Given the description of an element on the screen output the (x, y) to click on. 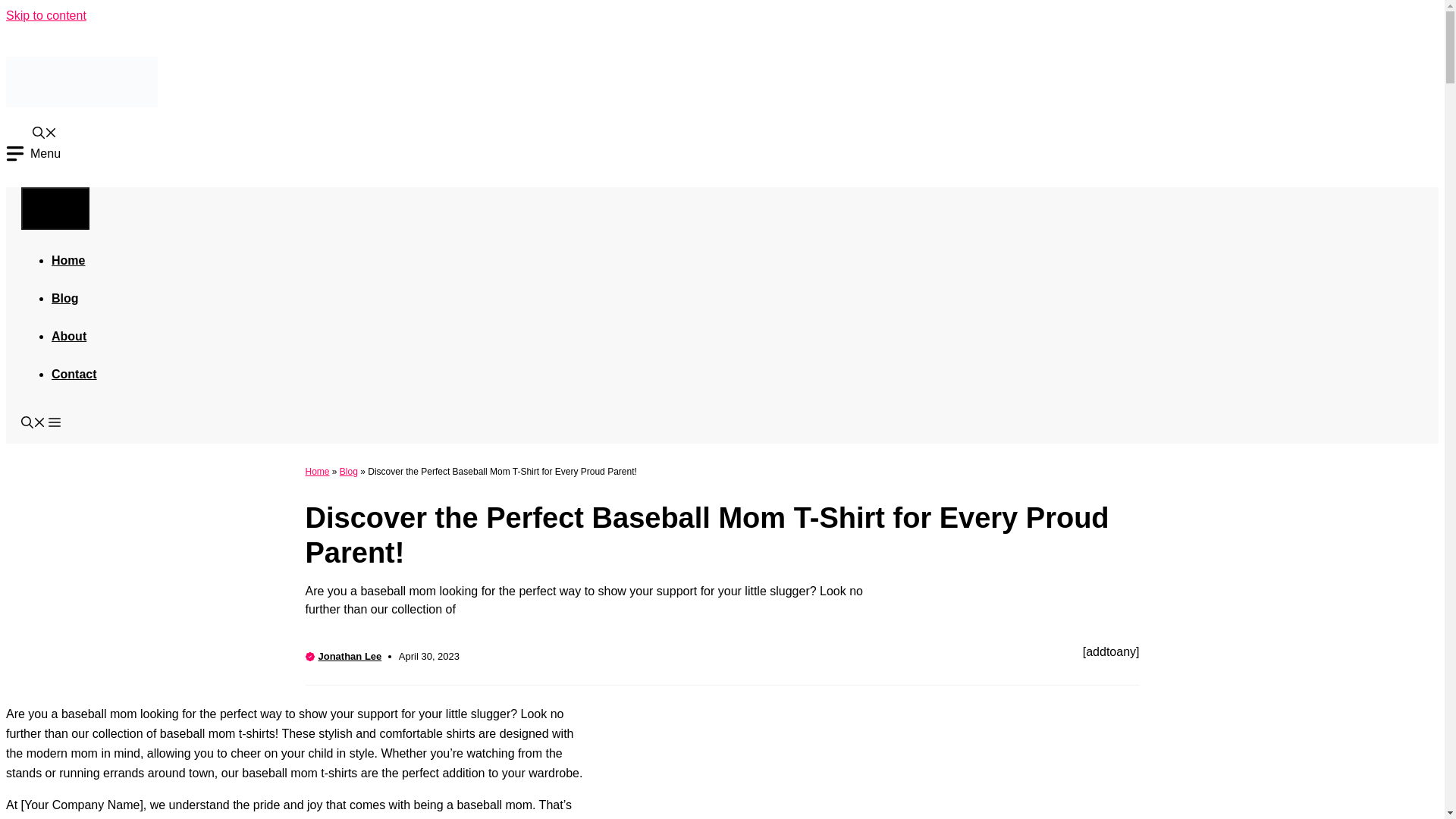
Jonathan Lee (349, 655)
Blog (64, 297)
Home (67, 259)
About (67, 335)
Contact (73, 373)
Blog (348, 470)
Menu (54, 207)
Home (316, 470)
Skip to content (45, 15)
Skip to content (45, 15)
